Given the description of an element on the screen output the (x, y) to click on. 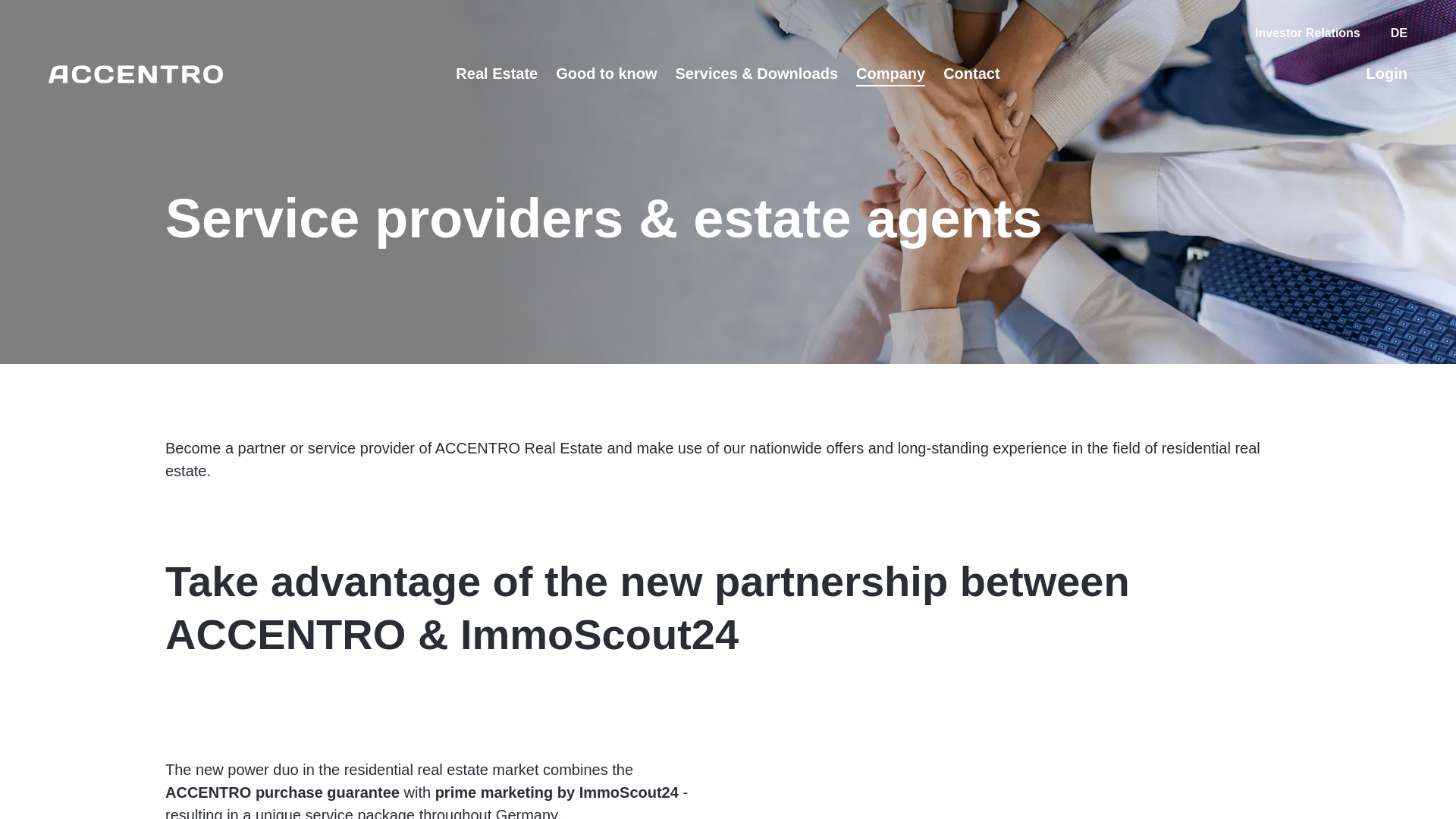
Good to know (606, 74)
Real Estate (496, 74)
Contact (970, 74)
Login (1387, 74)
Good to know (606, 74)
IS24 Teaser picture new (1021, 788)
Investor Relations (1307, 34)
Company (890, 74)
Contact (970, 74)
Real Estate (496, 74)
